Given the description of an element on the screen output the (x, y) to click on. 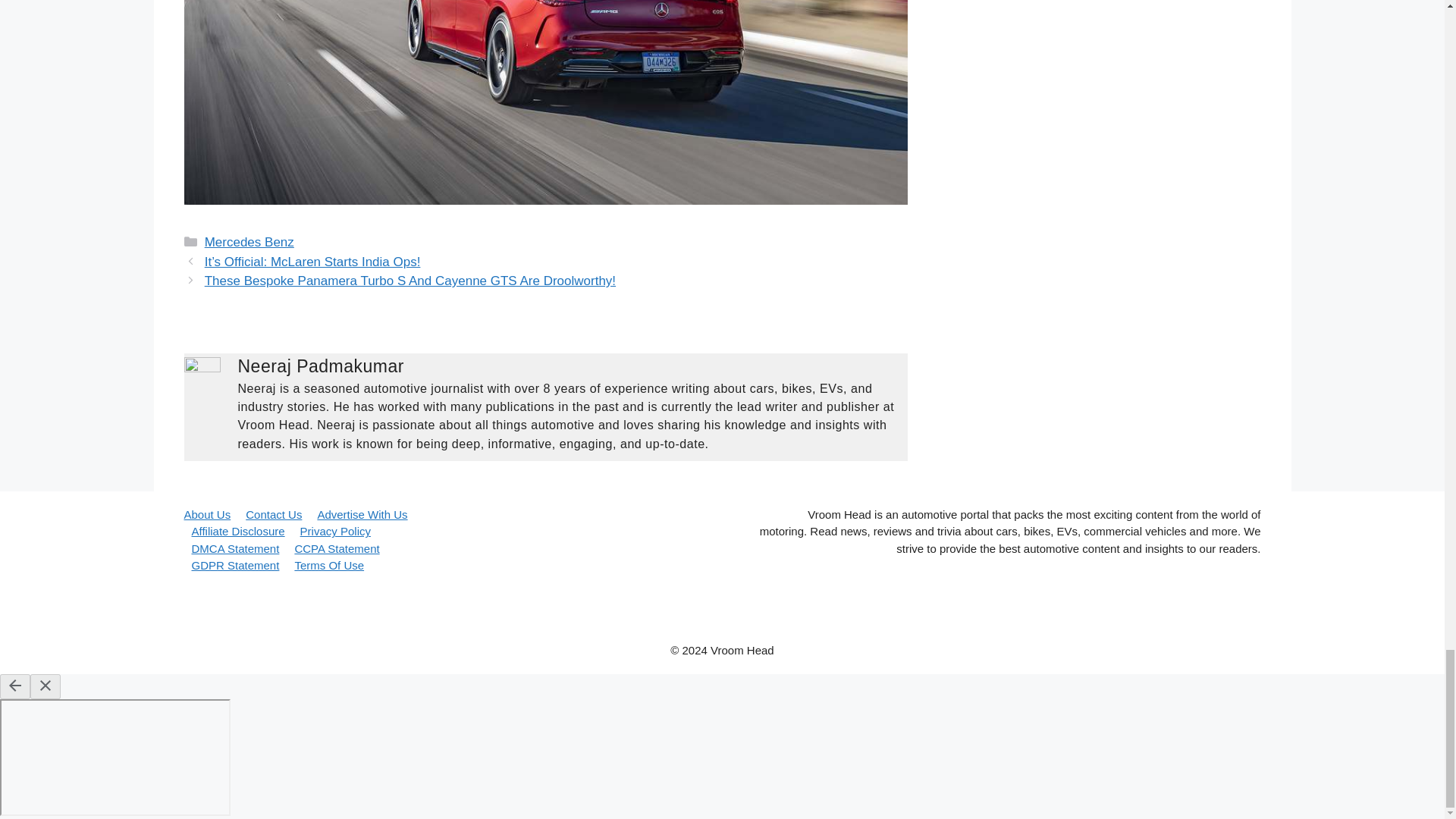
Advertise With Us (362, 513)
Contact Us (273, 513)
About Us (206, 513)
Mercedes Benz (249, 242)
